Given the description of an element on the screen output the (x, y) to click on. 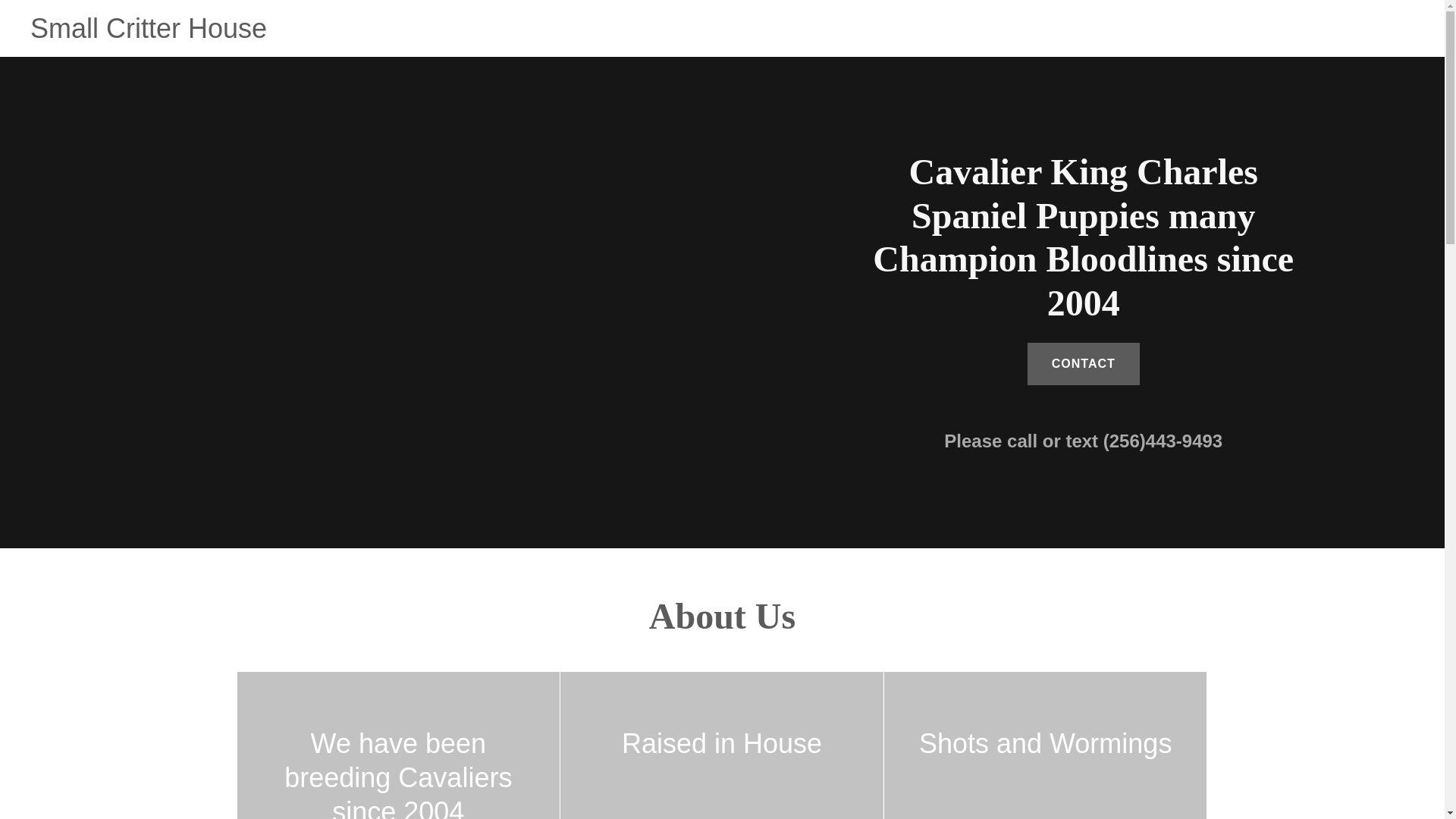
Small Critter House (148, 32)
Small Critter House (148, 32)
CONTACT (1083, 363)
